Given the description of an element on the screen output the (x, y) to click on. 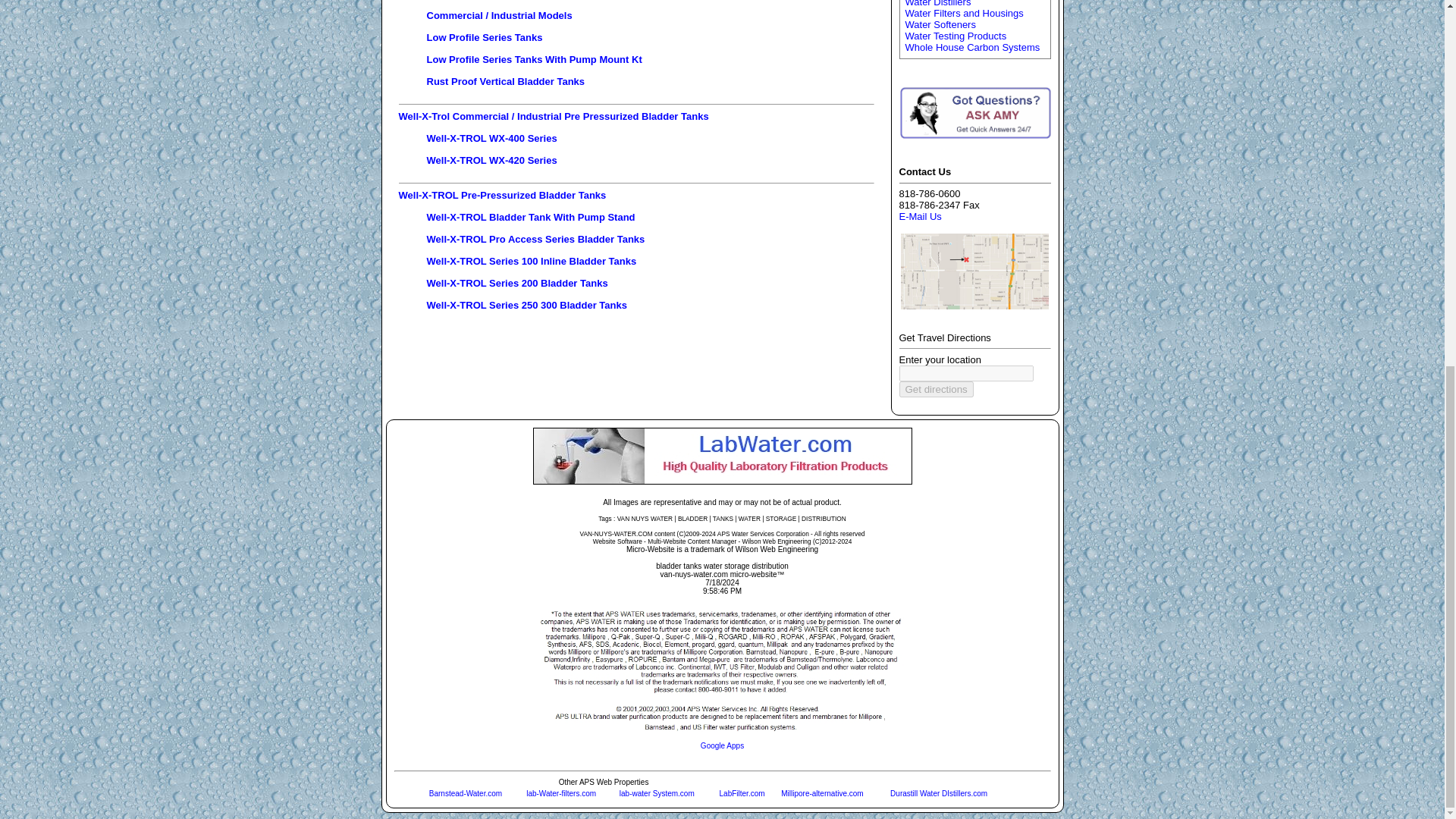
Water Testing Products (956, 35)
Well-X-TROL Pro Access Series Bladder Tanks (535, 238)
Well-X-TROL WX-400 Series (491, 138)
Water Filters and Housings (964, 12)
Low Profile Series Tanks With Pump Mount Kt (534, 59)
Water Distillers (938, 3)
